Given the description of an element on the screen output the (x, y) to click on. 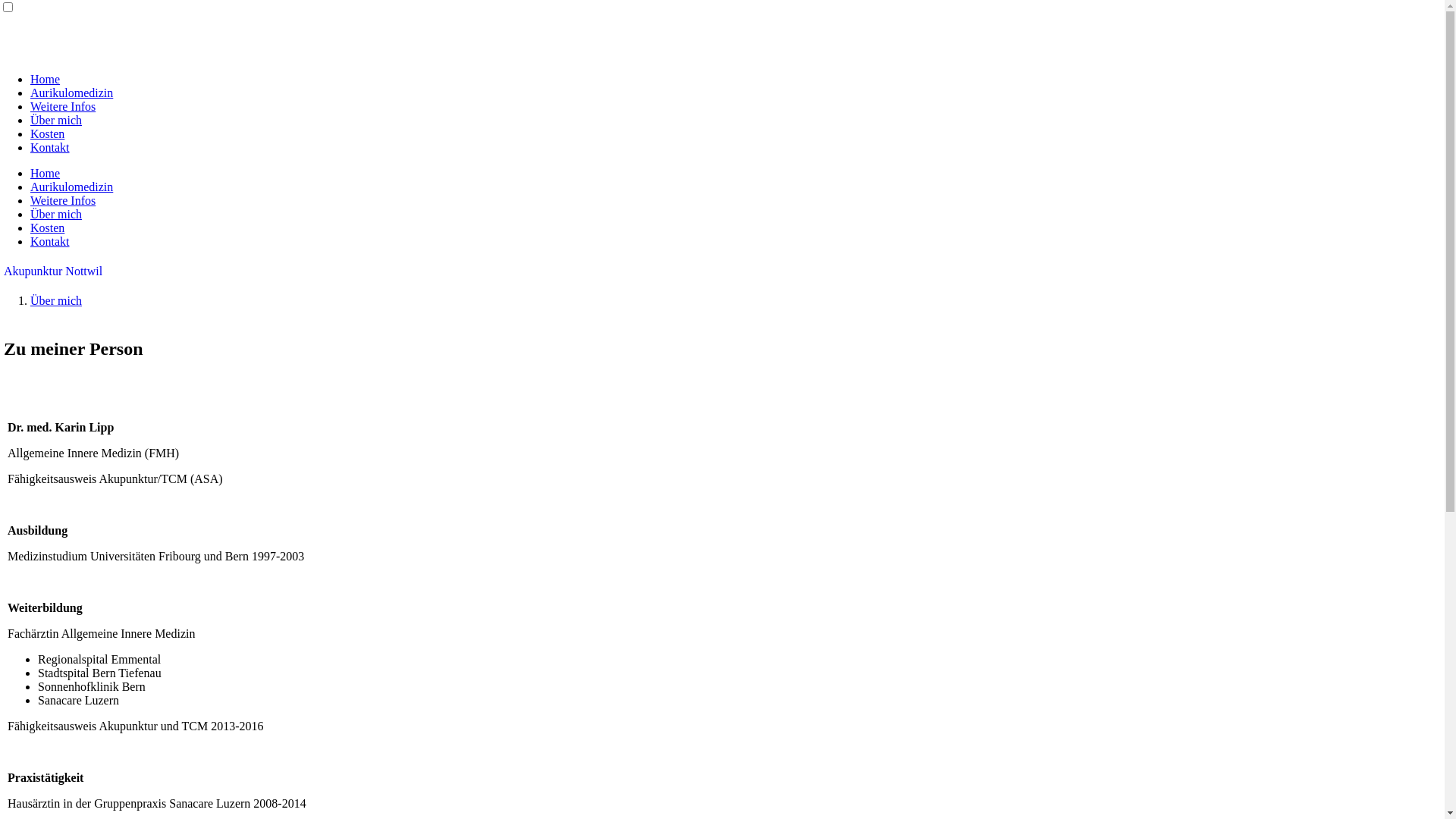
Weitere Infos Element type: text (62, 200)
Kontakt Element type: text (49, 147)
Akupunktur Nottwil Element type: text (52, 270)
Aurikulomedizin Element type: text (71, 92)
Kontakt Element type: text (49, 241)
Aurikulomedizin Element type: text (71, 186)
Home Element type: text (44, 78)
Kosten Element type: text (47, 133)
Weitere Infos Element type: text (62, 106)
Home Element type: text (44, 172)
Kosten Element type: text (47, 227)
